Given the description of an element on the screen output the (x, y) to click on. 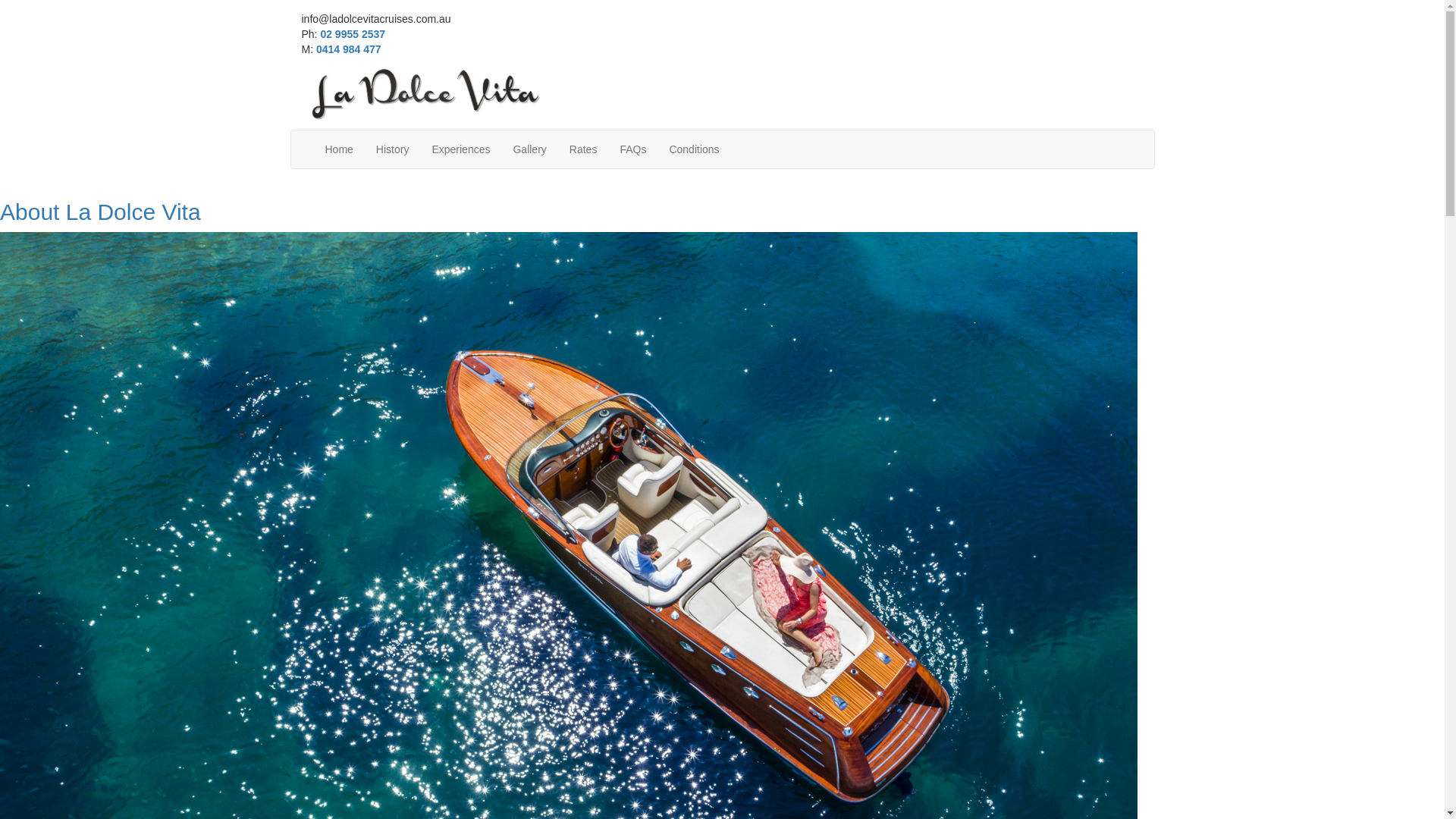
Conditions Element type: text (693, 149)
History Element type: text (392, 149)
Experiences Element type: text (460, 149)
About La Dolce Vita Element type: text (100, 211)
Home Element type: text (338, 149)
Skip to main content Element type: text (0, 11)
Home Element type: hover (424, 92)
Rates Element type: text (583, 149)
Gallery Element type: text (529, 149)
FAQs Element type: text (632, 149)
02 9955 2537 Element type: text (352, 34)
0414 984 477 Element type: text (348, 49)
